Given the description of an element on the screen output the (x, y) to click on. 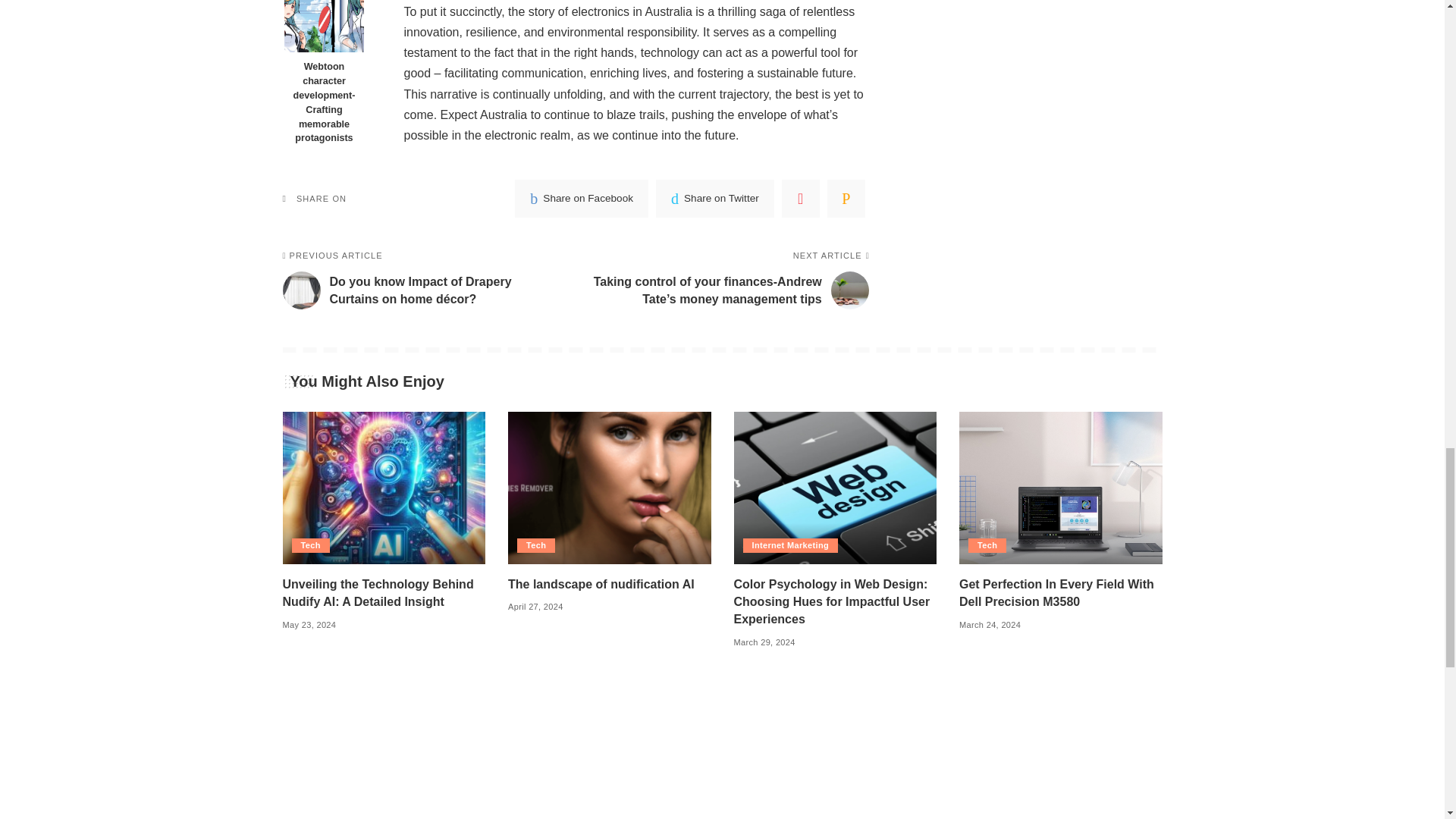
Share on Facebook (581, 198)
Share on Twitter (715, 198)
